Given the description of an element on the screen output the (x, y) to click on. 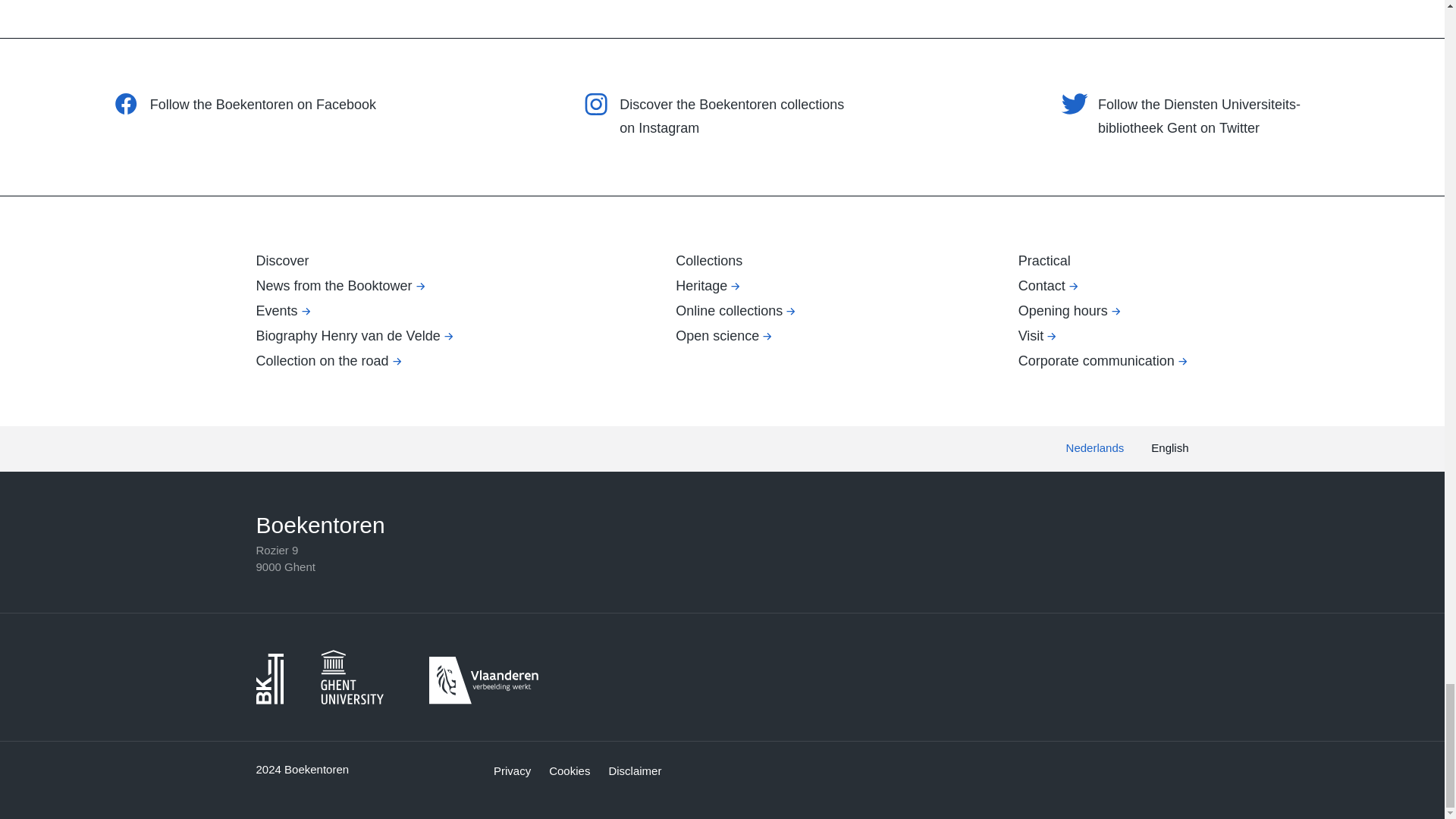
Instagram (595, 103)
Twitter (1074, 102)
Facebook (126, 102)
Vlaanderen, verbeelding werkt (483, 680)
Ghent University (356, 676)
